Given the description of an element on the screen output the (x, y) to click on. 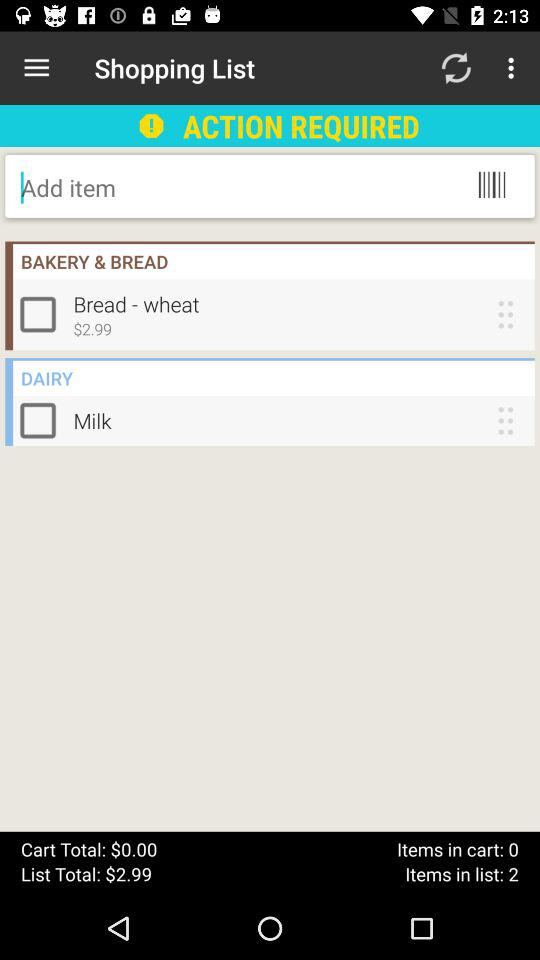
add item to list (181, 187)
